Given the description of an element on the screen output the (x, y) to click on. 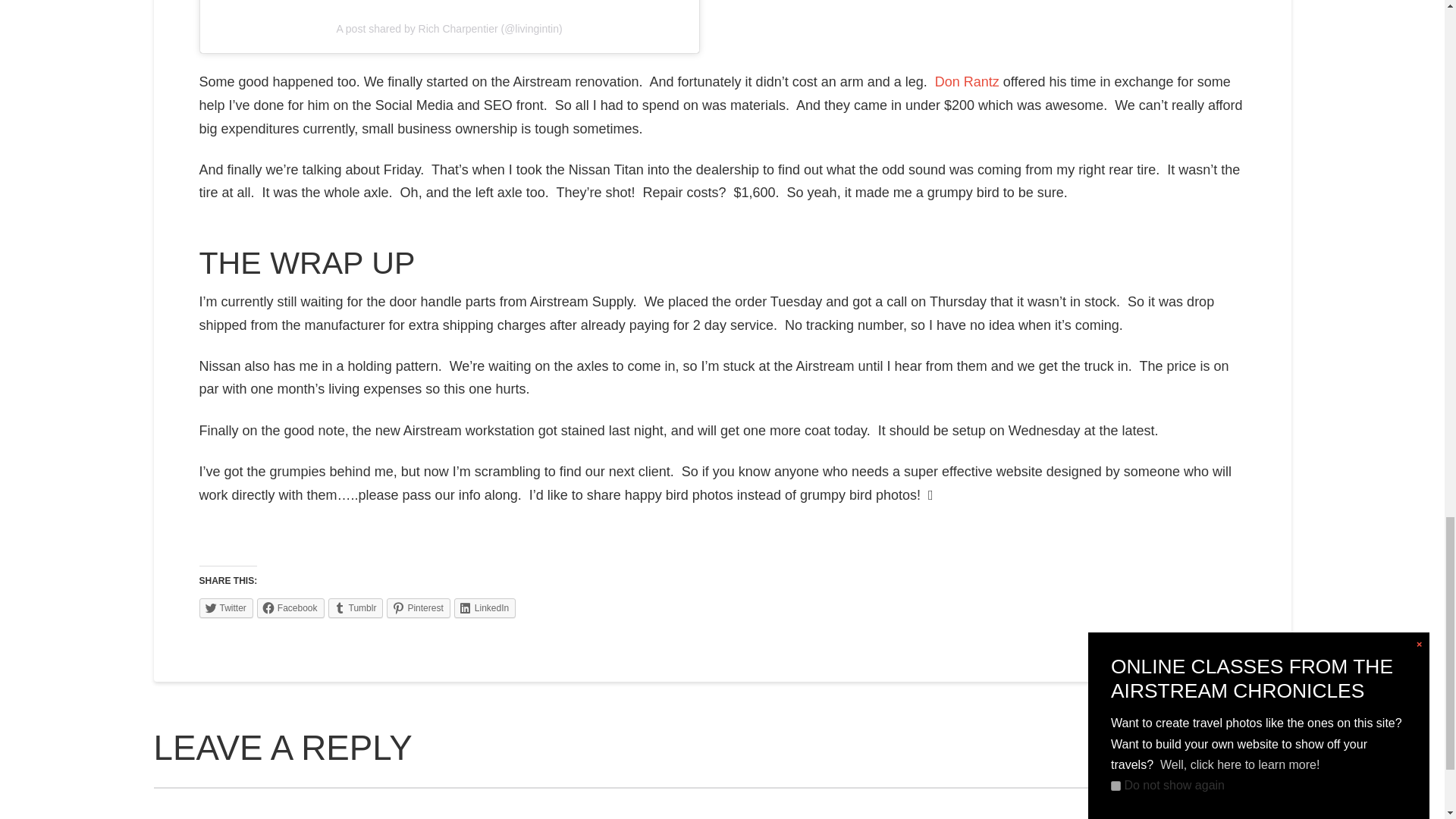
Click to share on Twitter (224, 608)
Twitter (224, 608)
Don Rantz (966, 81)
Click to share on Tumblr (356, 608)
Click to share on Facebook (290, 608)
Click to share on Pinterest (418, 608)
Click to share on LinkedIn (484, 608)
